Given the description of an element on the screen output the (x, y) to click on. 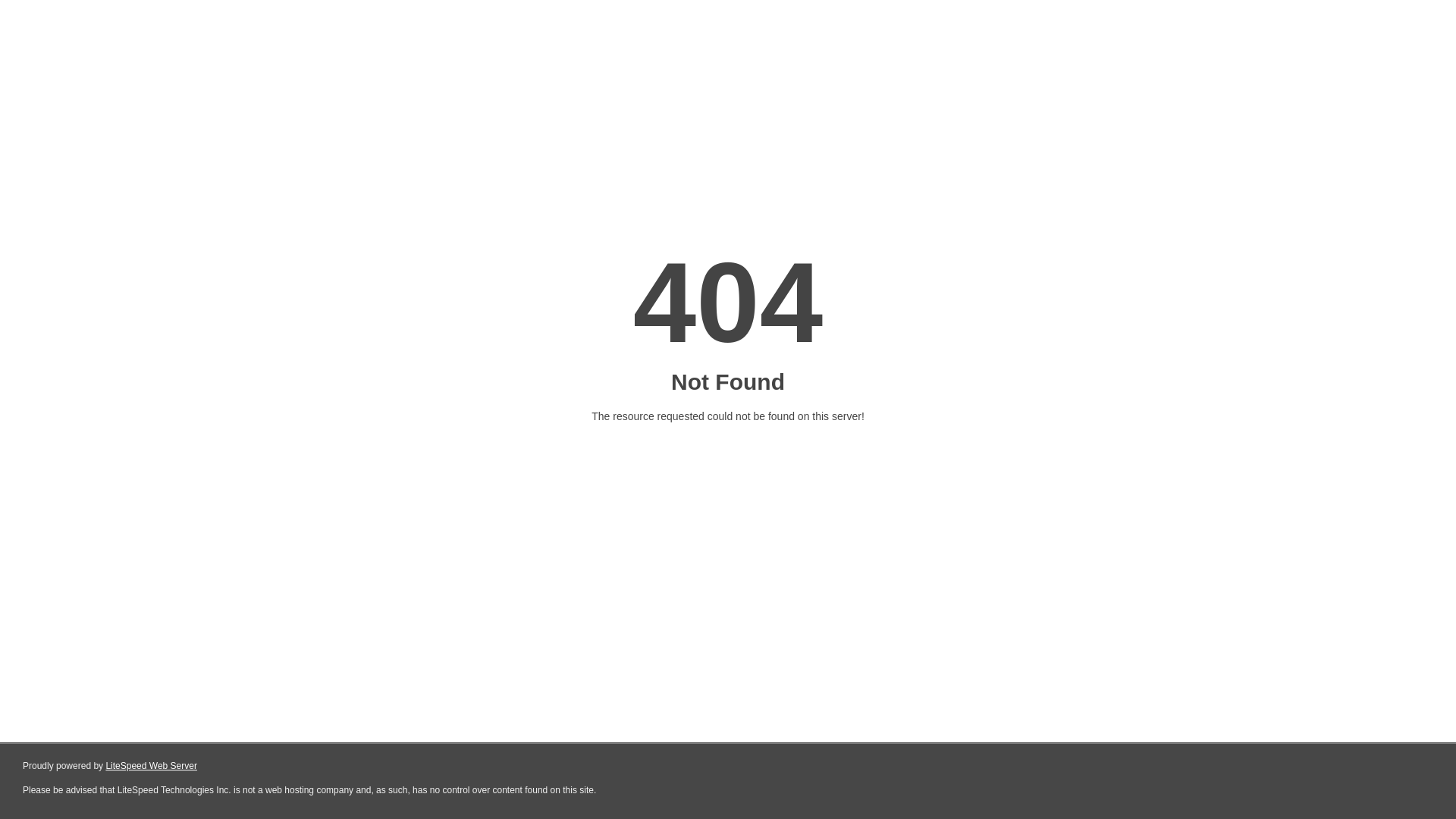
LiteSpeed Web Server Element type: text (151, 765)
